Given the description of an element on the screen output the (x, y) to click on. 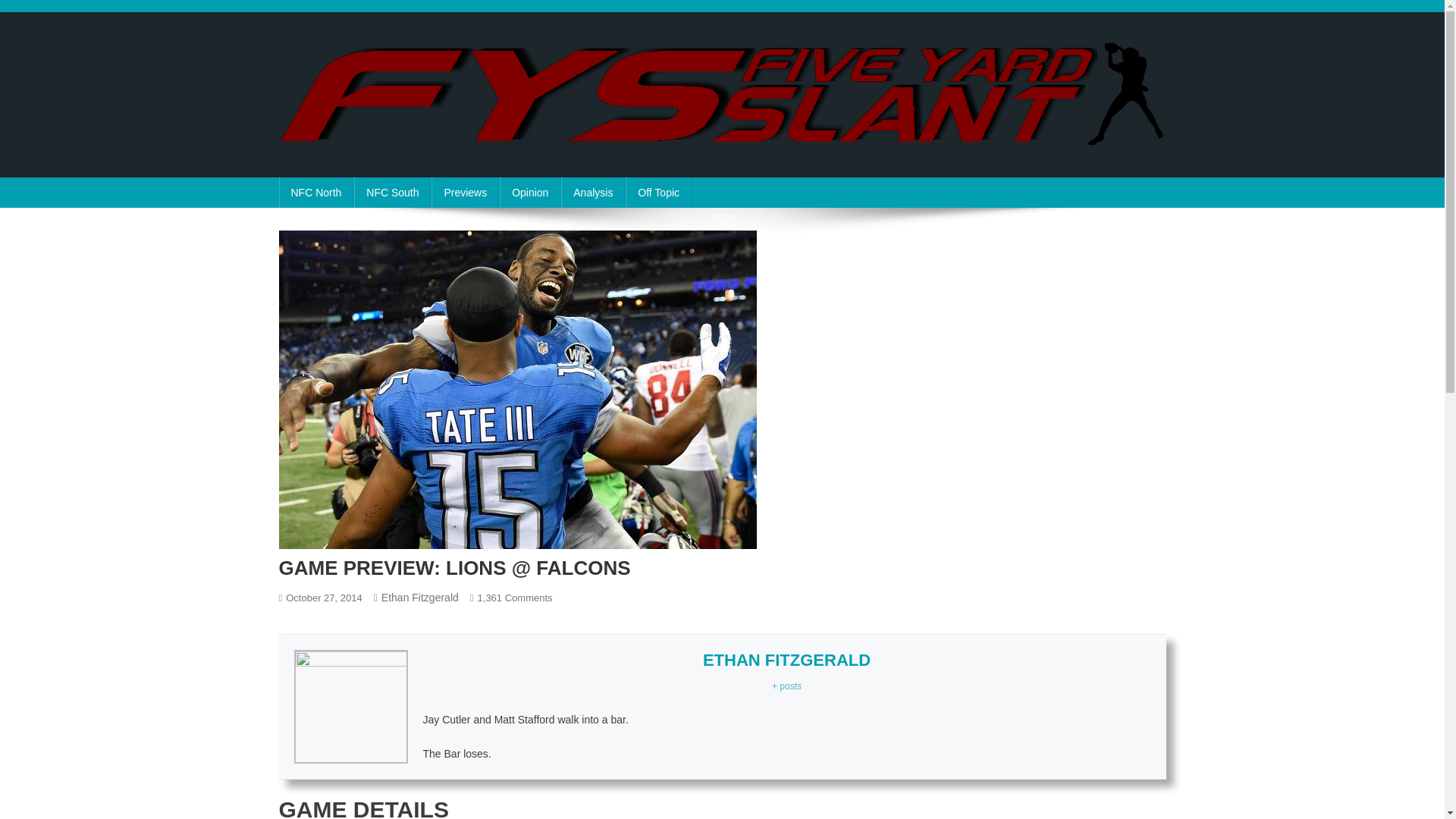
Off Topic (658, 192)
Opinion (529, 192)
October 27, 2014 (323, 597)
NFC North (316, 192)
NFC South (391, 192)
ETHAN FITZGERALD (786, 659)
Previews (464, 192)
Ethan Fitzgerald (419, 597)
Analysis (592, 192)
Five Yard Slant (365, 162)
